Given the description of an element on the screen output the (x, y) to click on. 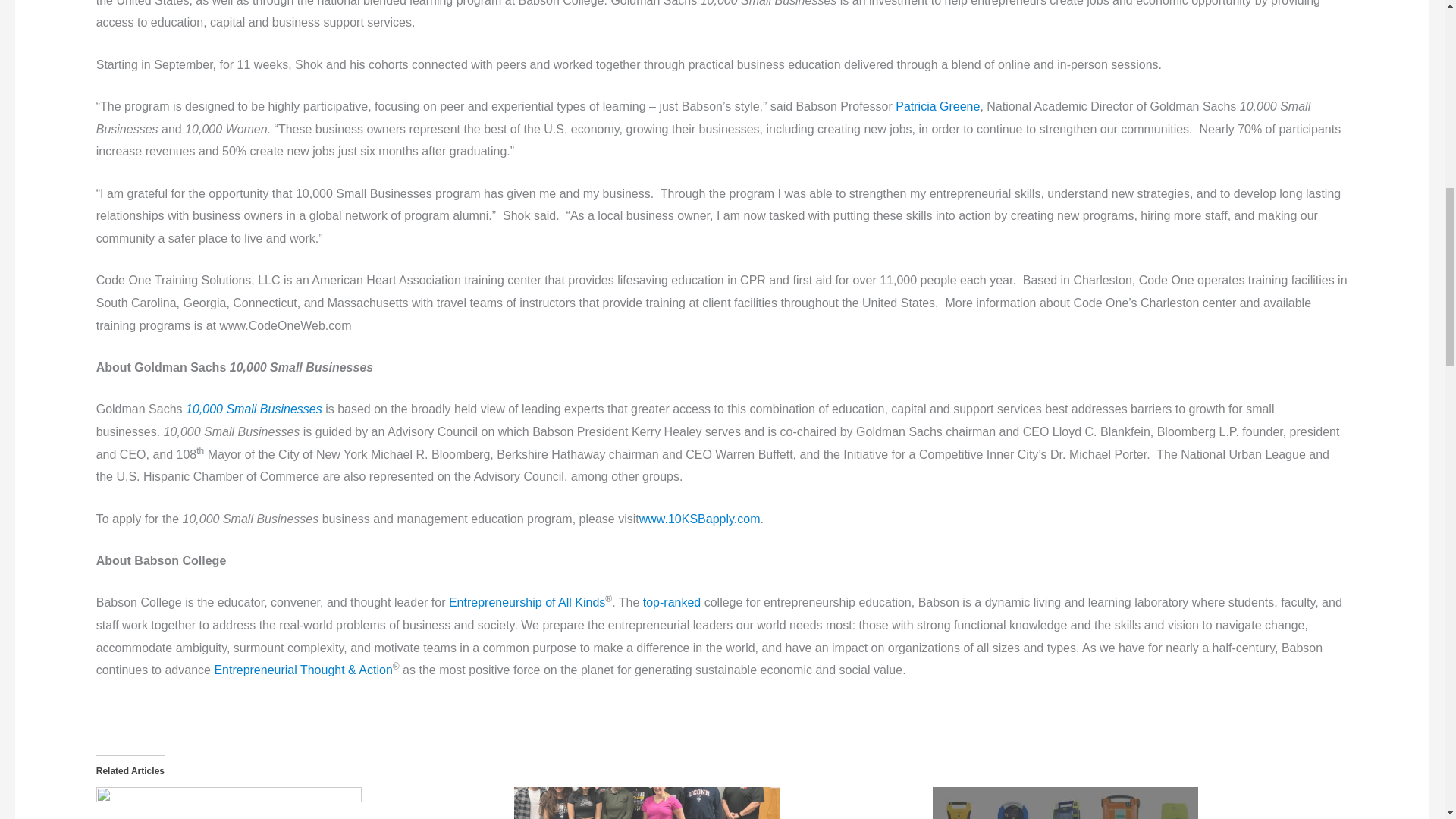
Congratulations to our Summer EMT Students (715, 803)
